Given the description of an element on the screen output the (x, y) to click on. 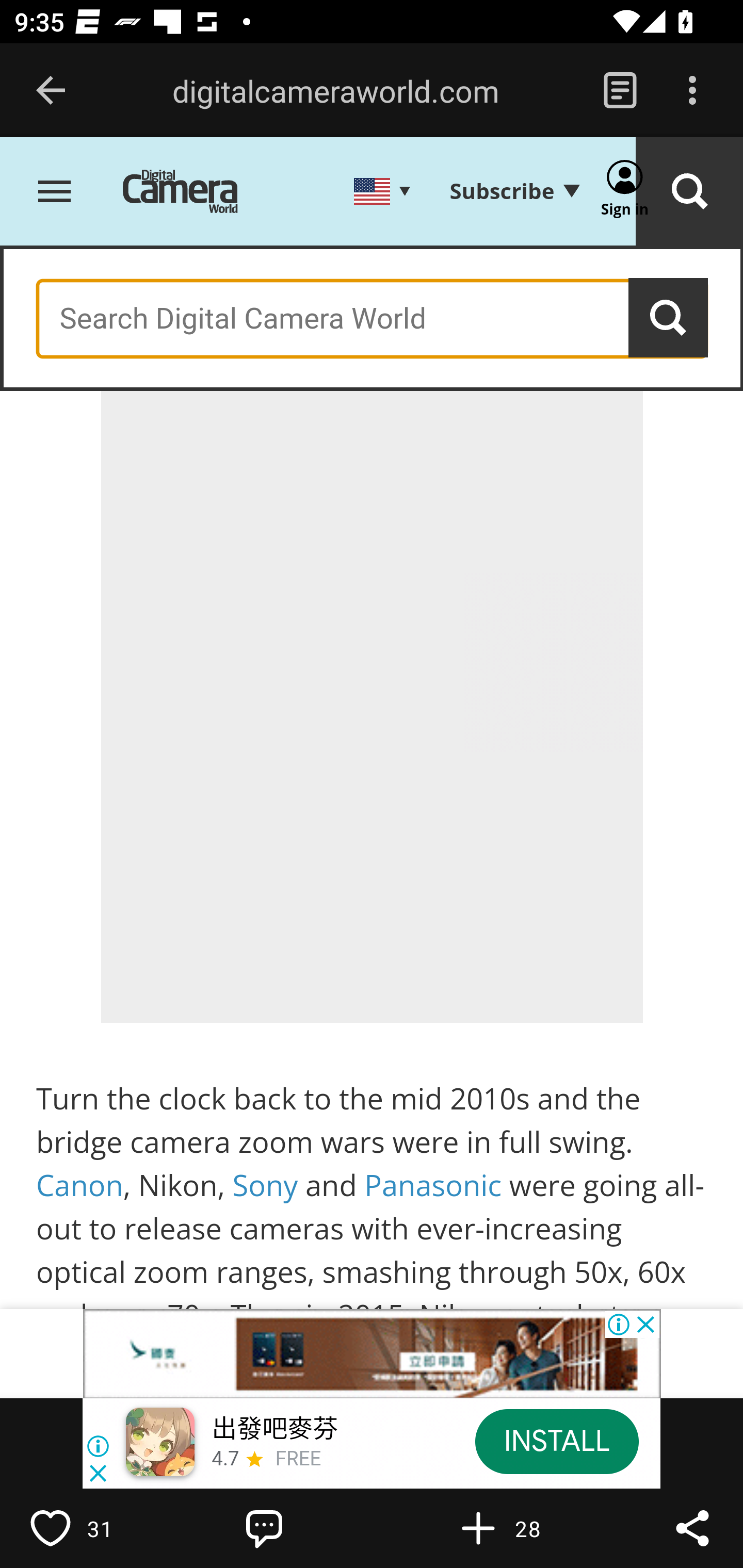
Back (50, 90)
Reader View (619, 90)
Options (692, 90)
Open menu (54, 192)
Digital Camera World (194, 192)
Sign in (625, 192)
Search (689, 192)
Subscribe (514, 191)
Search (668, 318)
Canon (80, 1186)
Sony (265, 1186)
Panasonic (432, 1186)
INSTALL (556, 1441)
出發吧麥芬 (274, 1429)
4.7 (224, 1459)
FREE (298, 1459)
Like 31 (93, 1528)
Write a comment… (307, 1528)
Flip into Magazine 28 (521, 1528)
Share (692, 1528)
